Given the description of an element on the screen output the (x, y) to click on. 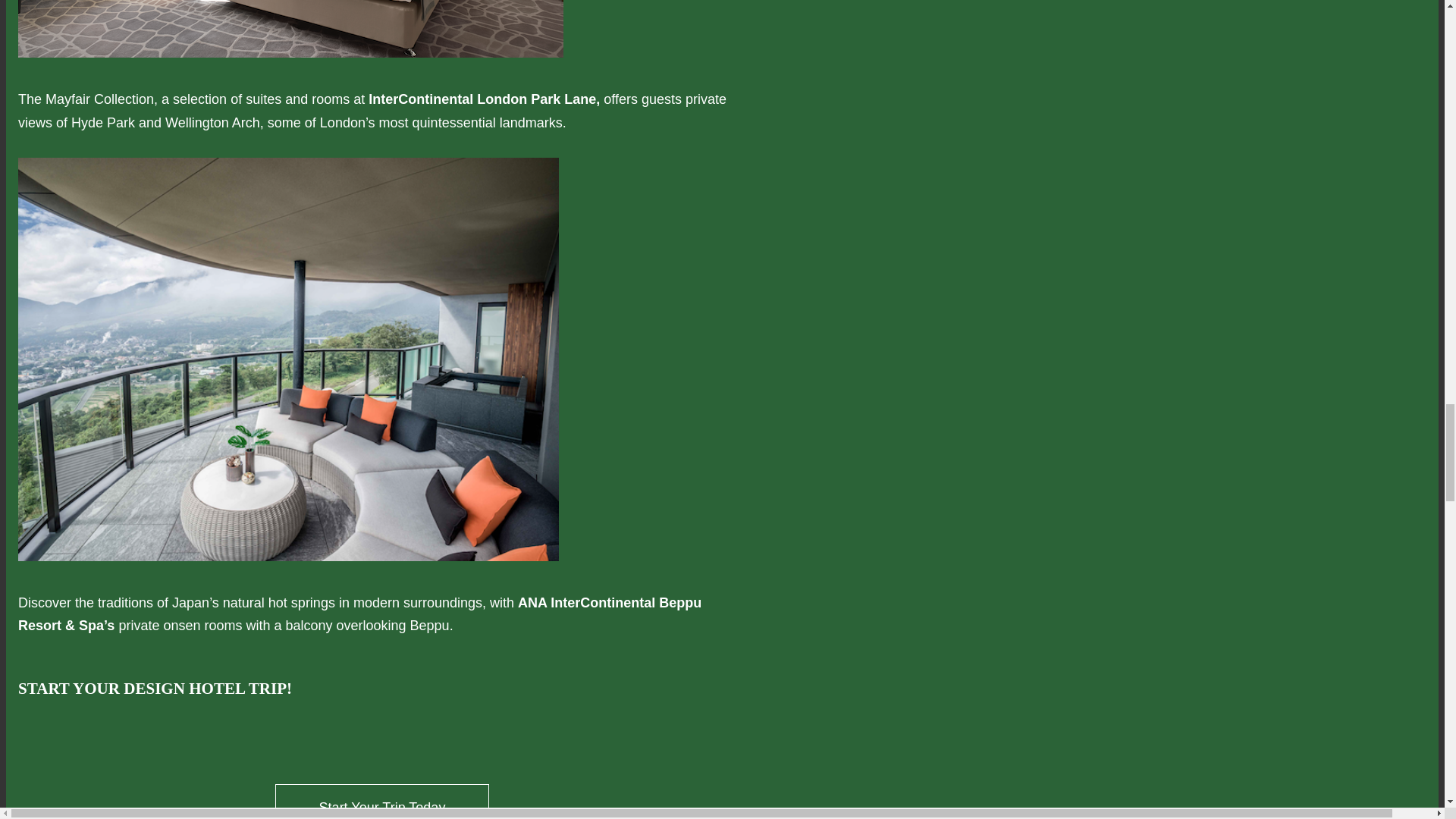
Start Your Trip Today (382, 801)
